Given the description of an element on the screen output the (x, y) to click on. 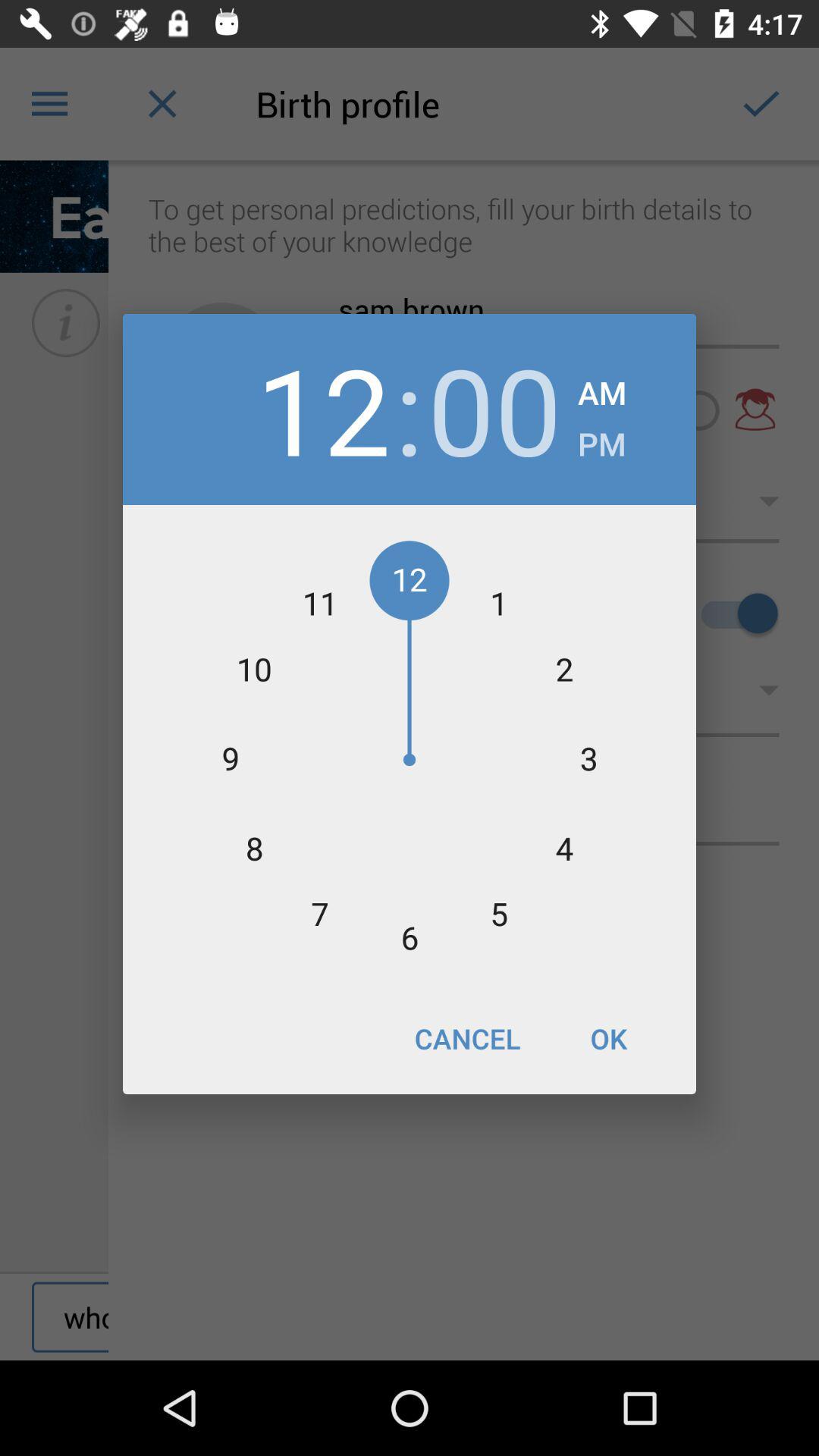
turn off the item next to am icon (494, 408)
